Given the description of an element on the screen output the (x, y) to click on. 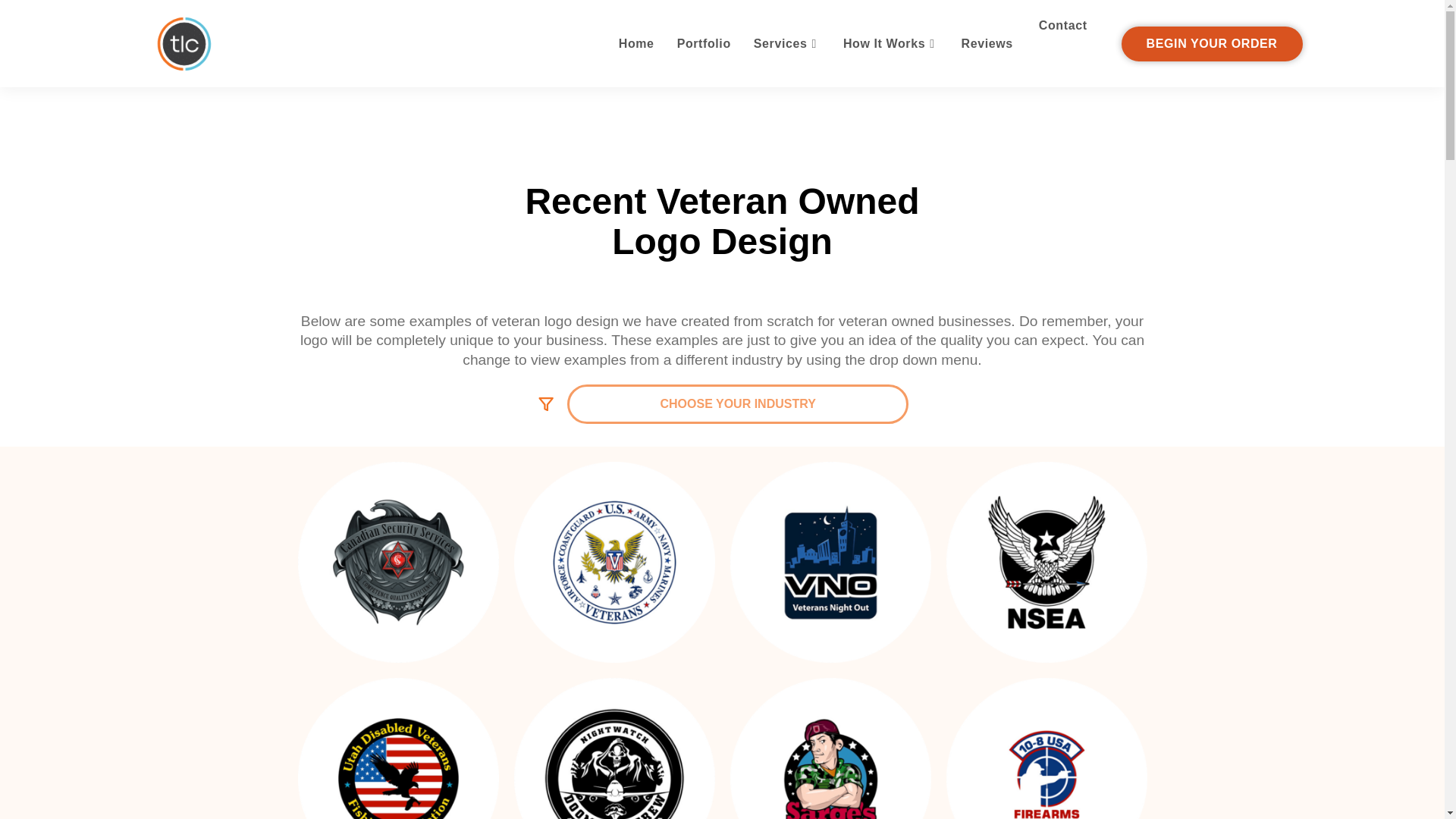
Portfolio (703, 43)
Reviews (987, 43)
Services (786, 43)
BEGIN YOUR ORDER (1212, 43)
Contact (1063, 25)
How It Works (890, 43)
